Given the description of an element on the screen output the (x, y) to click on. 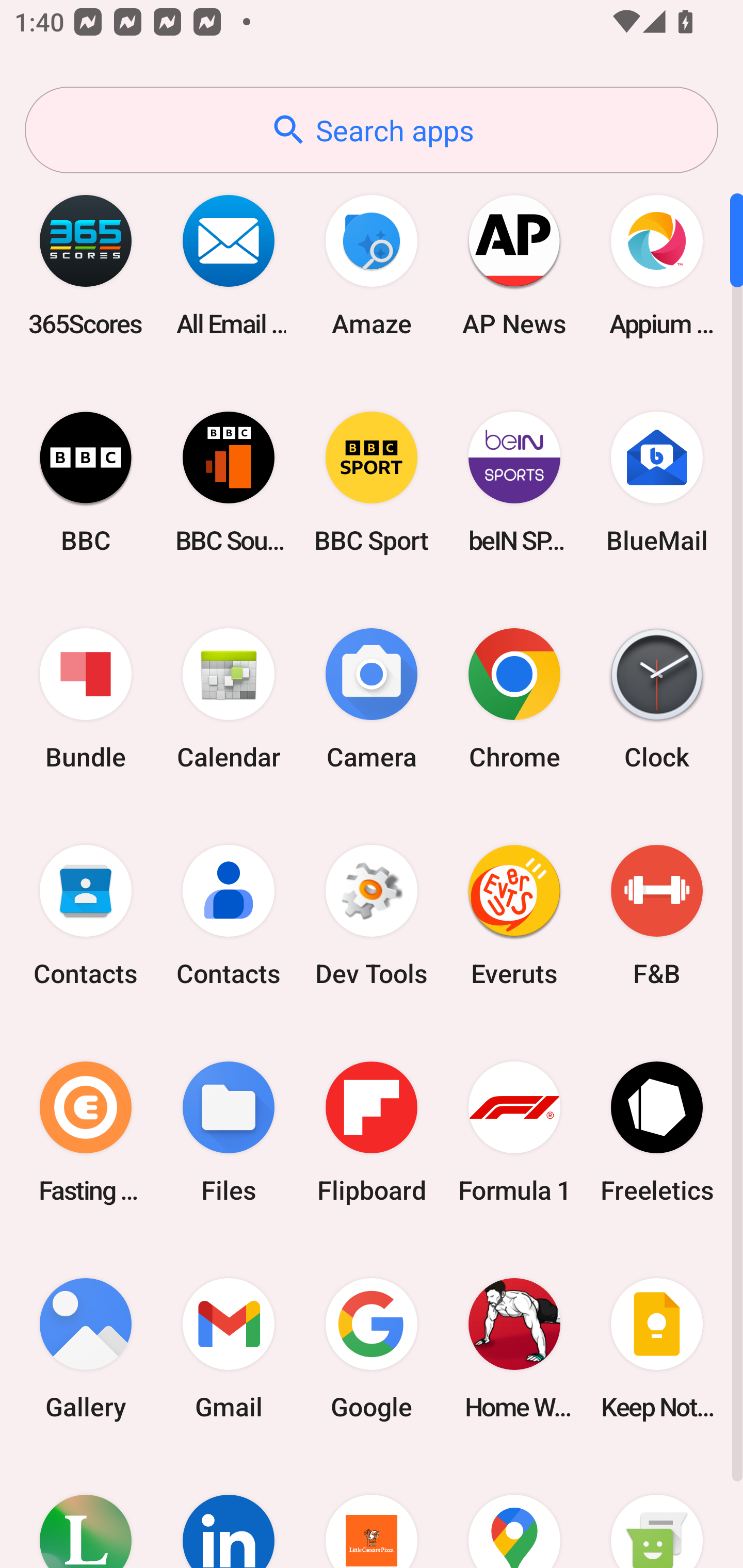
  Search apps (371, 130)
365Scores (85, 264)
All Email Connect (228, 264)
Amaze (371, 264)
AP News (514, 264)
Appium Settings (656, 264)
BBC (85, 482)
BBC Sounds (228, 482)
BBC Sport (371, 482)
beIN SPORTS (514, 482)
BlueMail (656, 482)
Bundle (85, 699)
Calendar (228, 699)
Camera (371, 699)
Chrome (514, 699)
Clock (656, 699)
Contacts (85, 915)
Contacts (228, 915)
Dev Tools (371, 915)
Everuts (514, 915)
F&B (656, 915)
Fasting Coach (85, 1131)
Files (228, 1131)
Flipboard (371, 1131)
Formula 1 (514, 1131)
Freeletics (656, 1131)
Gallery (85, 1348)
Gmail (228, 1348)
Google (371, 1348)
Home Workout (514, 1348)
Keep Notes (656, 1348)
Lifesum (85, 1512)
LinkedIn (228, 1512)
Little Caesars Pizza (371, 1512)
Maps (514, 1512)
Messaging (656, 1512)
